Given the description of an element on the screen output the (x, y) to click on. 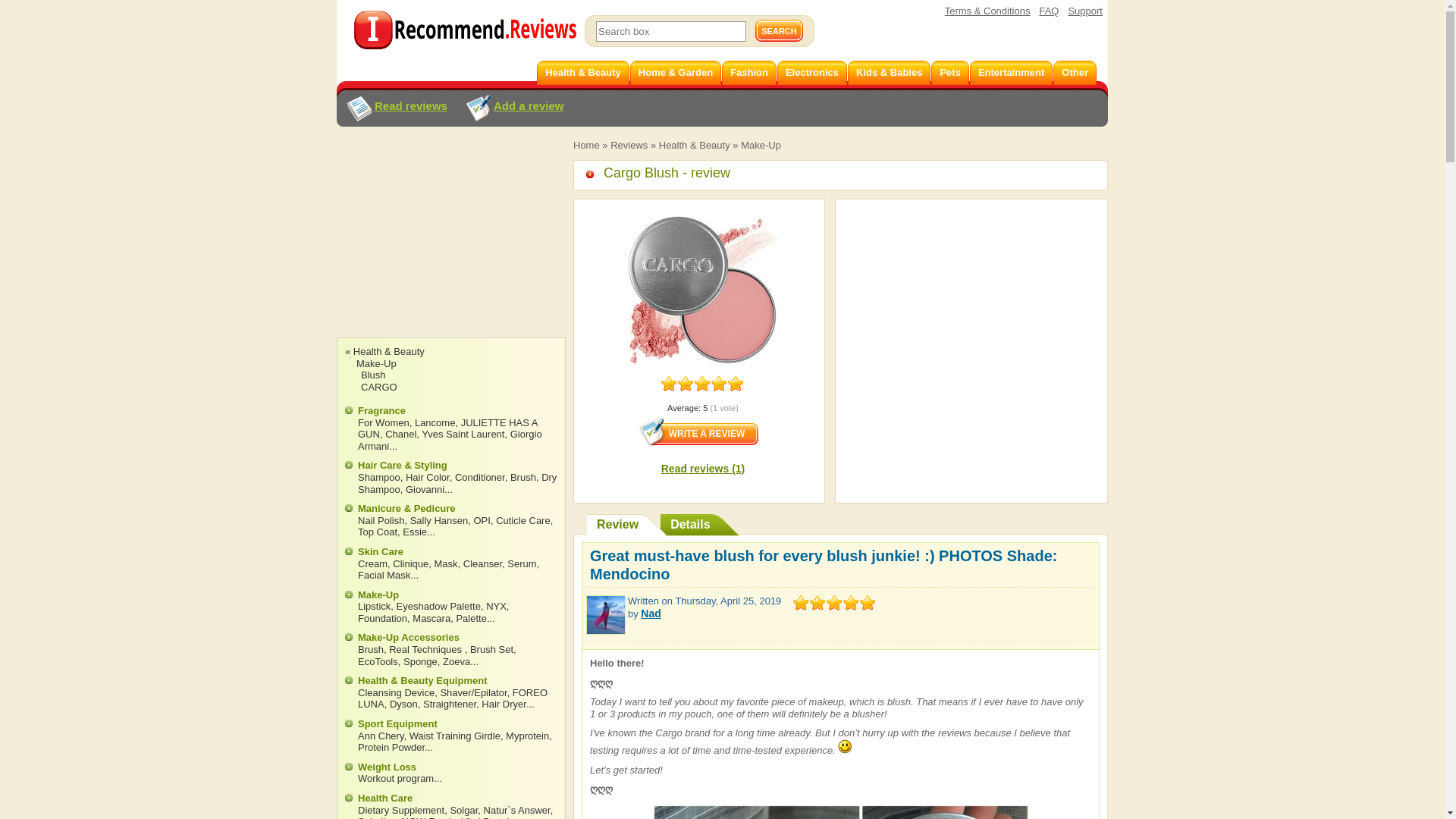
Read reviews (396, 109)
View user profile. (650, 613)
Fashion (749, 72)
Other (1074, 72)
Make-Up (760, 144)
Pets (949, 72)
Entertainment (1010, 72)
Advertisement (450, 246)
Smile (844, 746)
Cargo  Blush (702, 290)
